Given the description of an element on the screen output the (x, y) to click on. 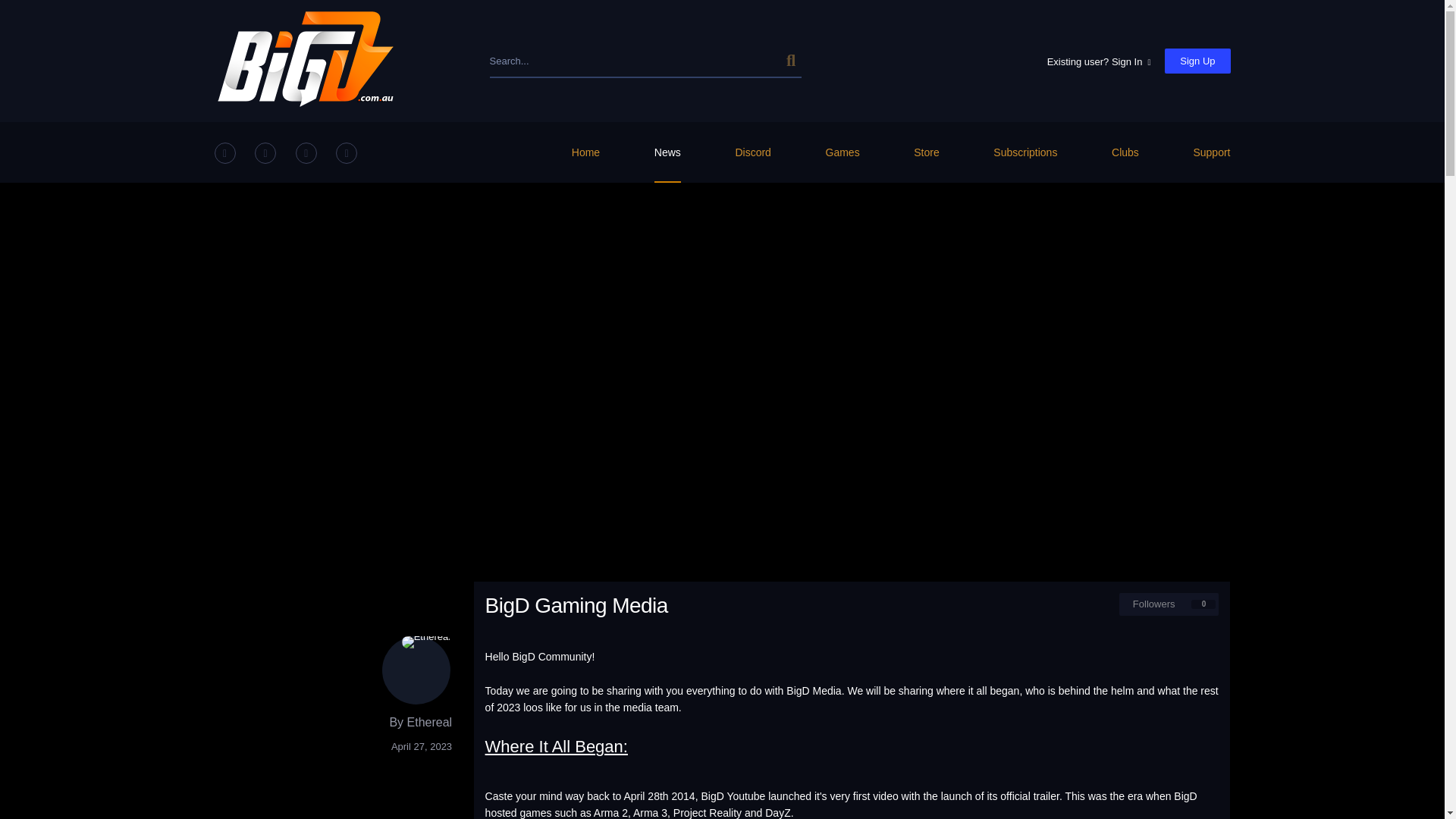
Sign in to follow this (1169, 603)
Go to Ethereal's profile (415, 669)
Existing user? Sign In   (1098, 61)
Go to Ethereal's profile (429, 721)
Sign Up (1197, 60)
Subscriptions (1024, 151)
